Given the description of an element on the screen output the (x, y) to click on. 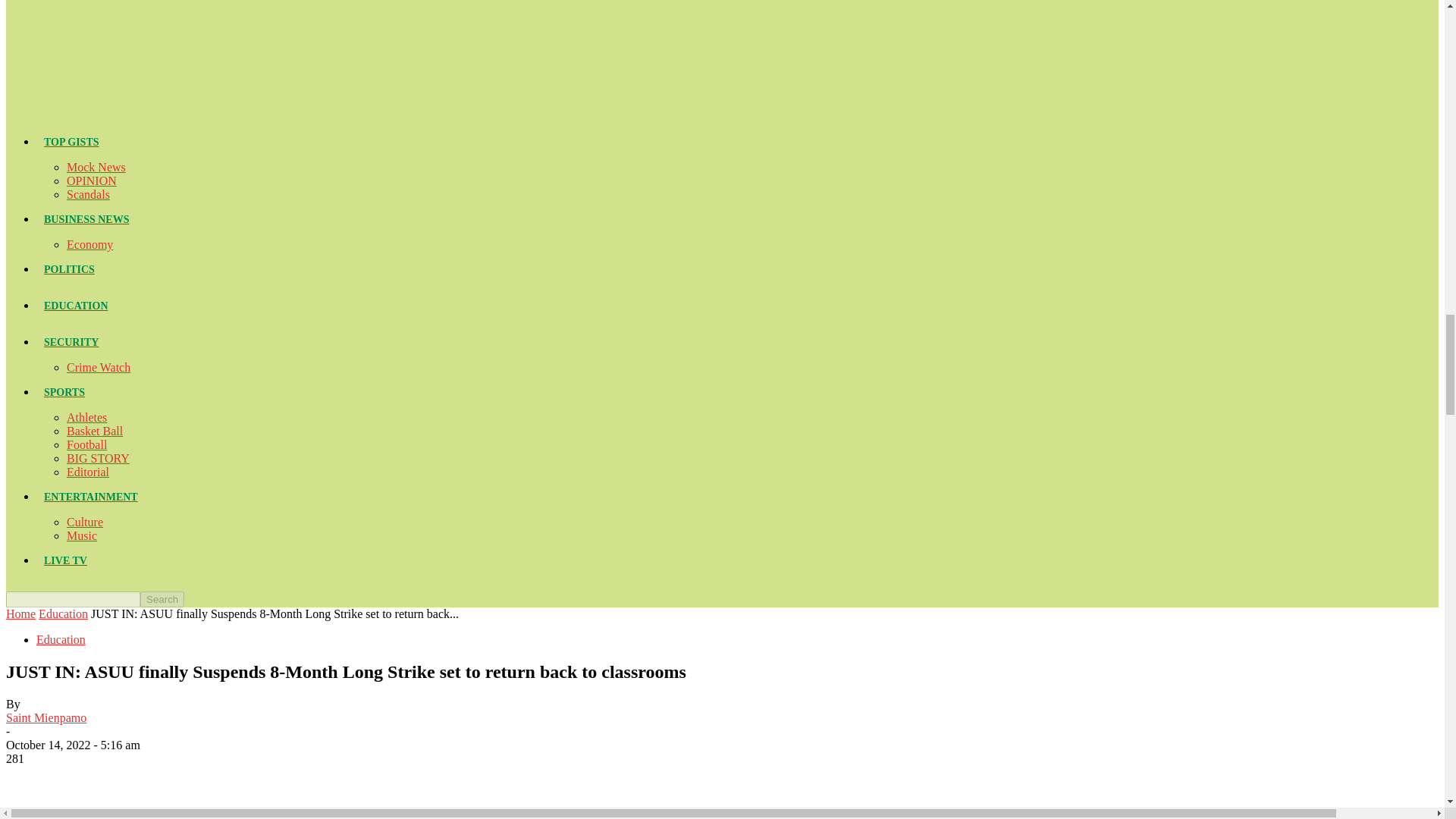
Scandals (88, 194)
Crime Watch (98, 367)
OPINION (91, 180)
SECURITY (71, 342)
Mock News (95, 166)
Search (161, 599)
EDUCATION (76, 306)
Economy (89, 244)
BUSINESS NEWS (86, 219)
TOP GISTS (71, 142)
